Given the description of an element on the screen output the (x, y) to click on. 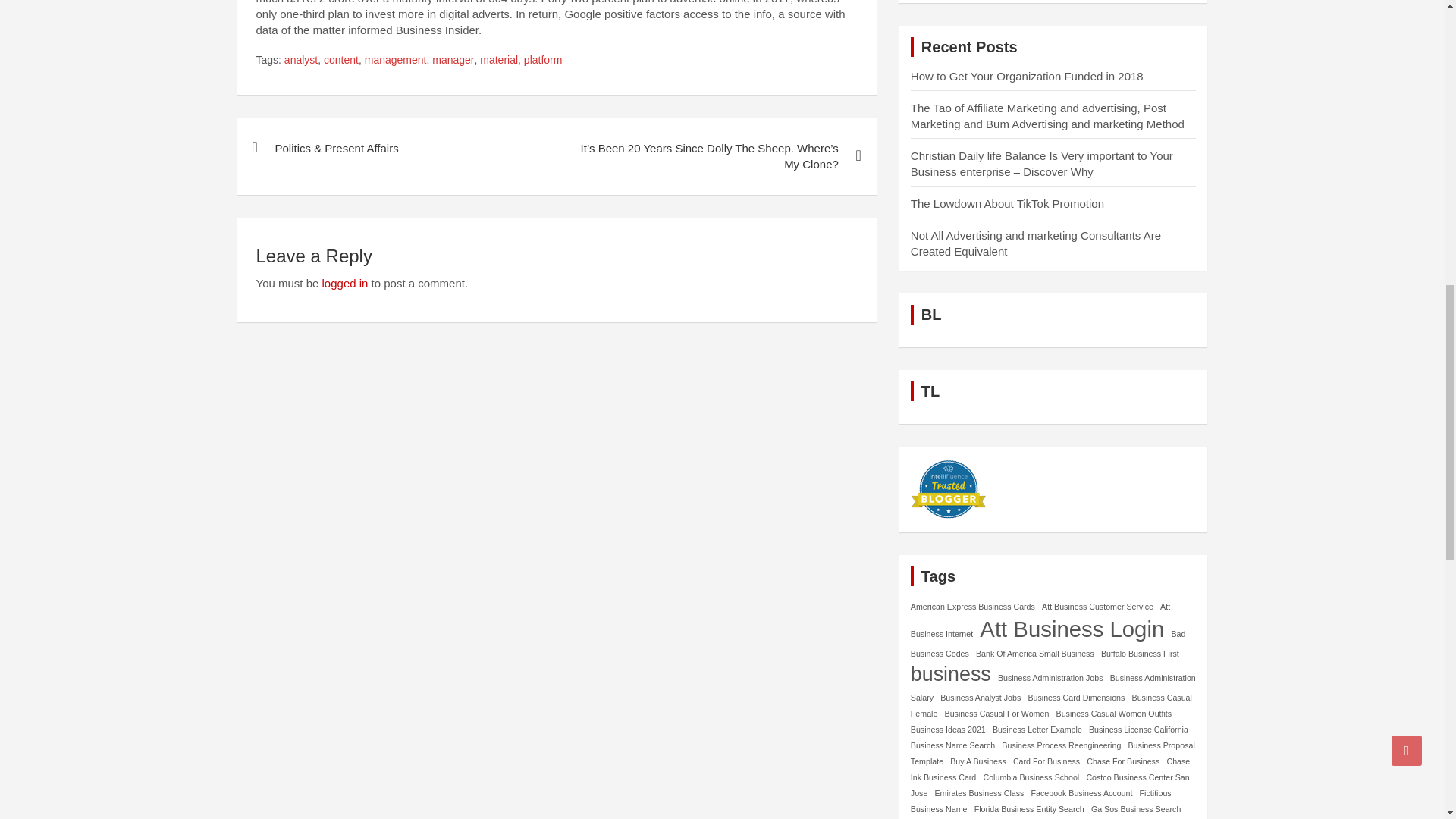
Att Business Customer Service (1097, 606)
logged in (344, 282)
management (395, 60)
analyst (300, 60)
American Express Business Cards (973, 606)
manager (453, 60)
platform (543, 60)
content (340, 60)
material (499, 60)
The Lowdown About TikTok Promotion (1007, 203)
How to Get Your Organization Funded in 2018 (1026, 75)
